Given the description of an element on the screen output the (x, y) to click on. 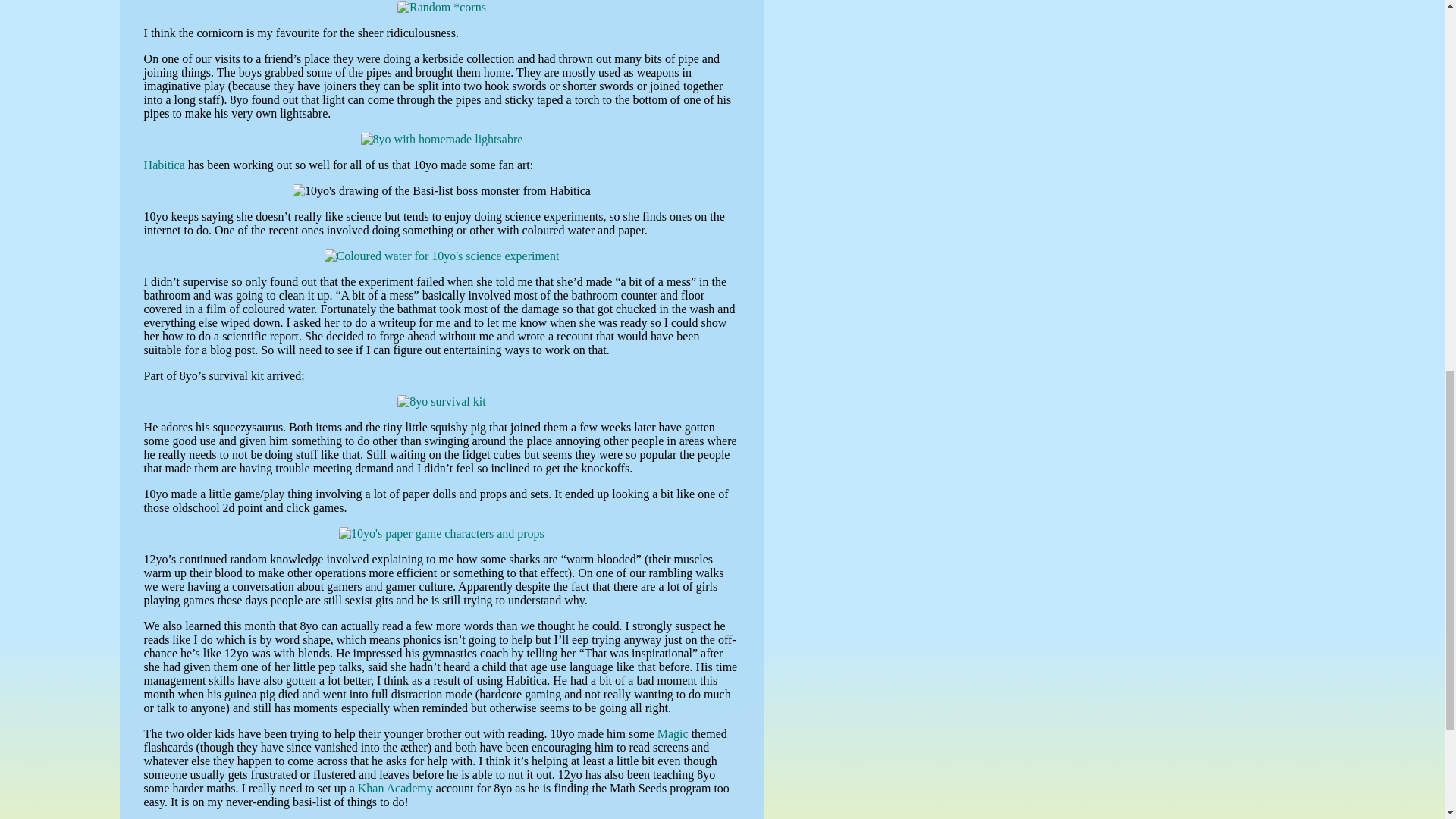
Habitica (164, 164)
Khan Academy (395, 788)
Magic (673, 733)
